Given the description of an element on the screen output the (x, y) to click on. 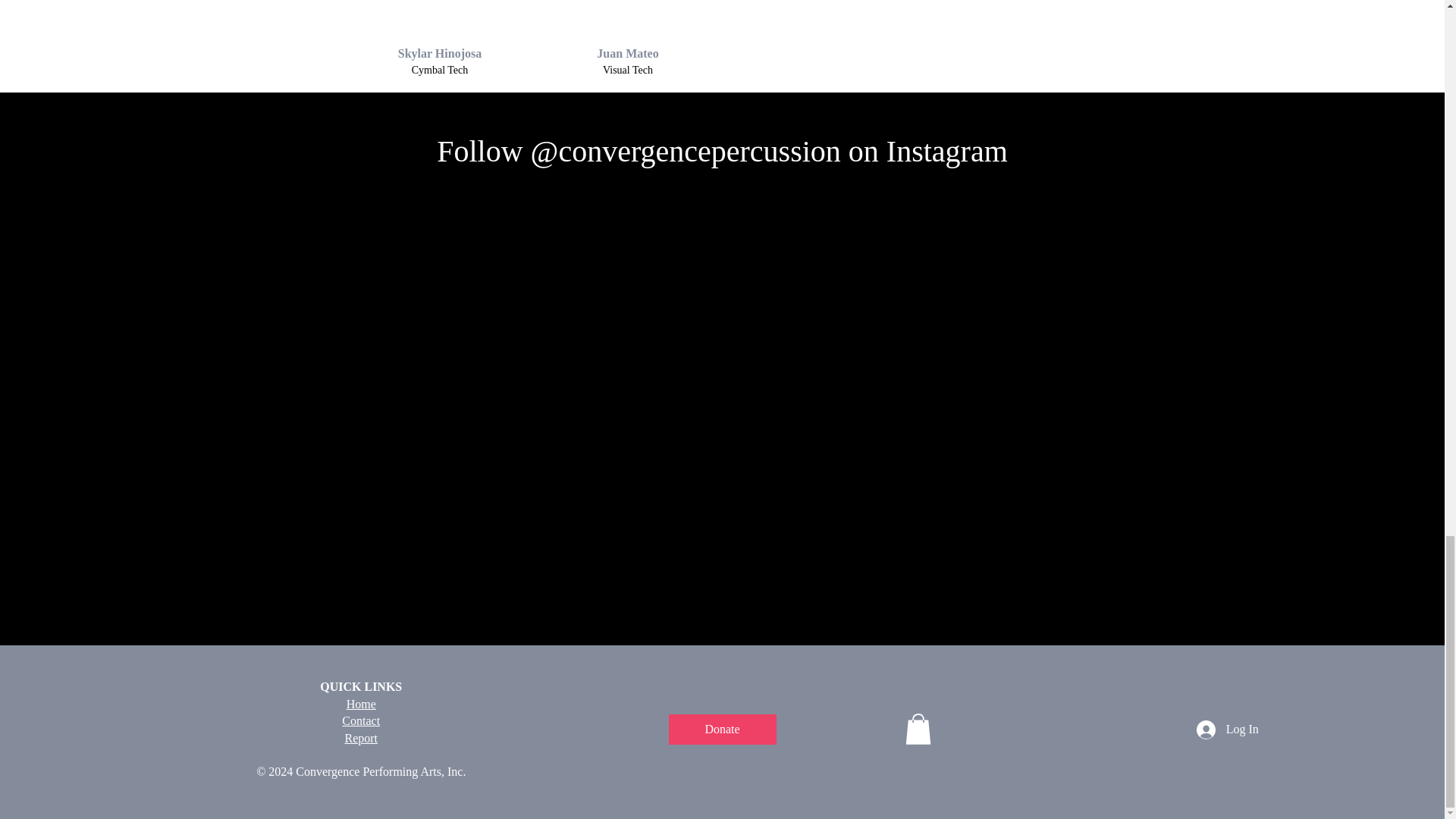
Log In (1227, 729)
Home (360, 703)
Donate (722, 729)
Contact (361, 720)
Skylar Hinojosa (439, 52)
Report (360, 737)
